Given the description of an element on the screen output the (x, y) to click on. 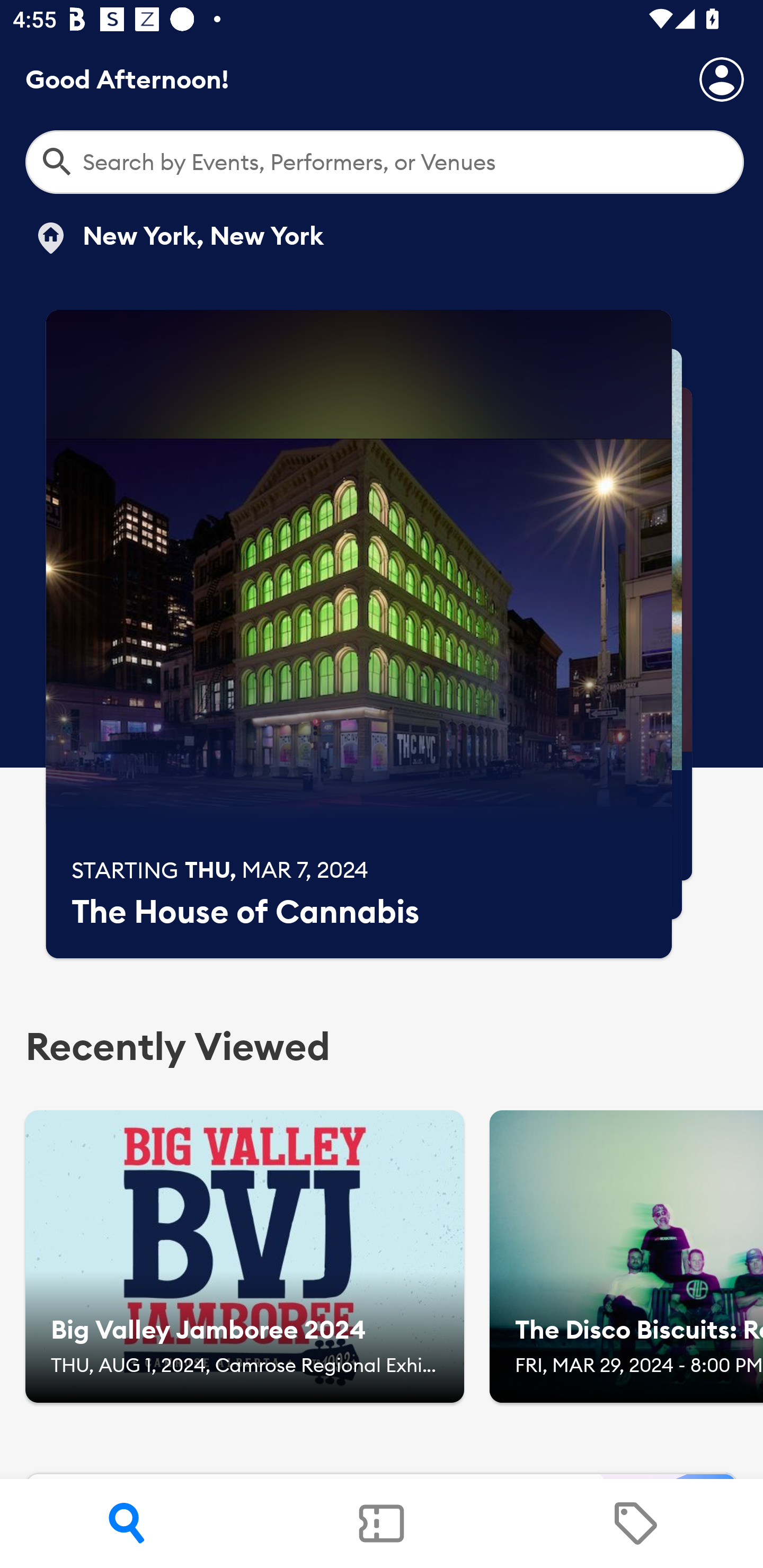
UserIcon (721, 78)
Search by Events, Performers, or Venues (384, 161)
New York, New York (177, 237)
STARTING THU, MAR 7, 2024 The House of Cannabis (358, 634)
Menu Item: Tickets (381, 1523)
Menu Item: Resale (635, 1523)
